Given the description of an element on the screen output the (x, y) to click on. 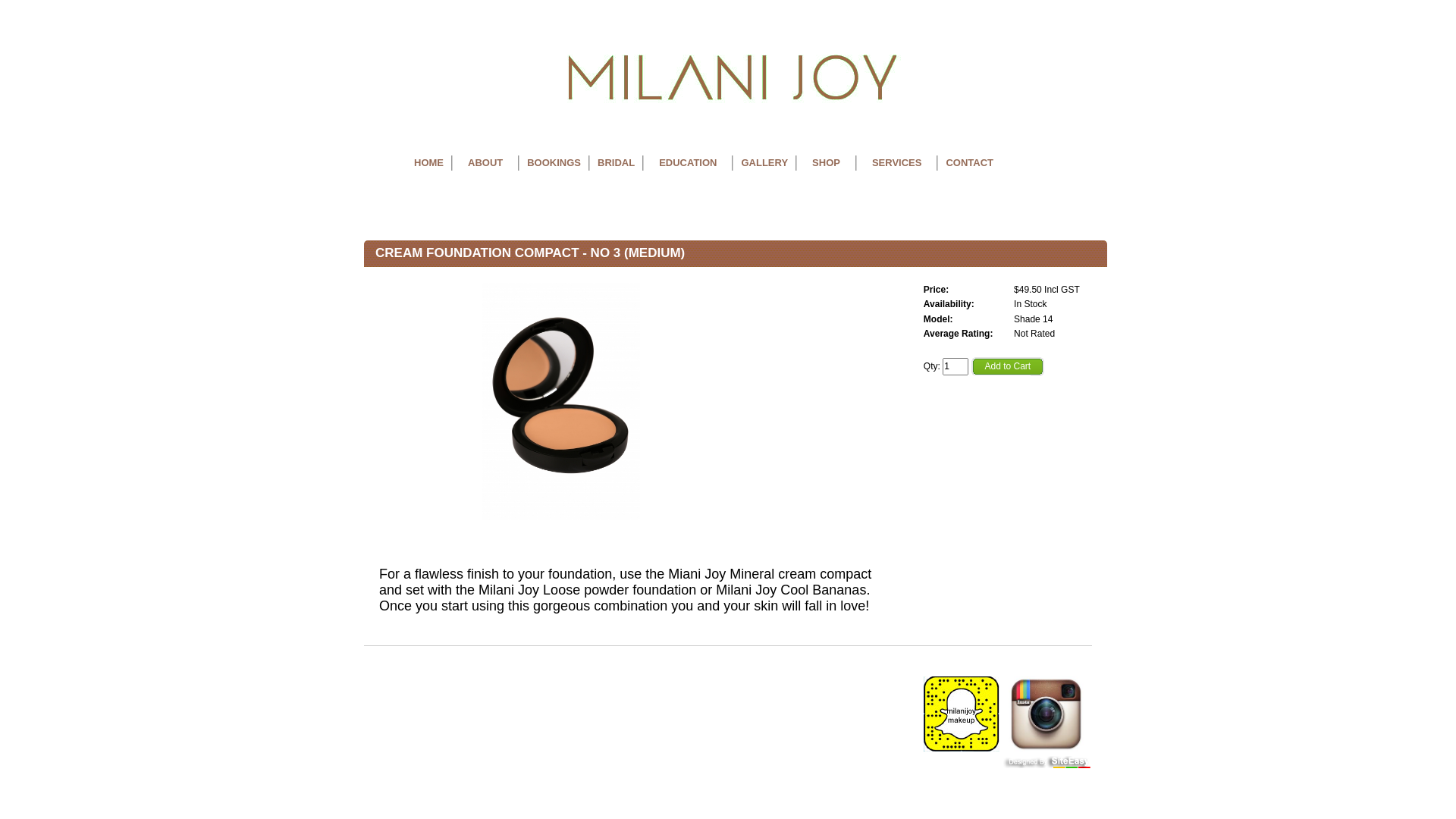
SHOP Element type: text (826, 162)
CONTACT Element type: text (969, 162)
SERVICES Element type: text (896, 162)
Add to Cart Element type: text (1007, 366)
BRIDAL Element type: text (615, 162)
CREAM FOUNDATION COMPACT - NO 3 (MEDIUM) Element type: hover (560, 401)
EDUCATION Element type: text (687, 162)
BOOKINGS Element type: text (553, 162)
HOME Element type: text (428, 162)
GALLERY Element type: text (764, 162)
CREAM FOUNDATION COMPACT - NO 3 (MEDIUM) Element type: hover (560, 519)
ABOUT Element type: text (484, 162)
